Given the description of an element on the screen output the (x, y) to click on. 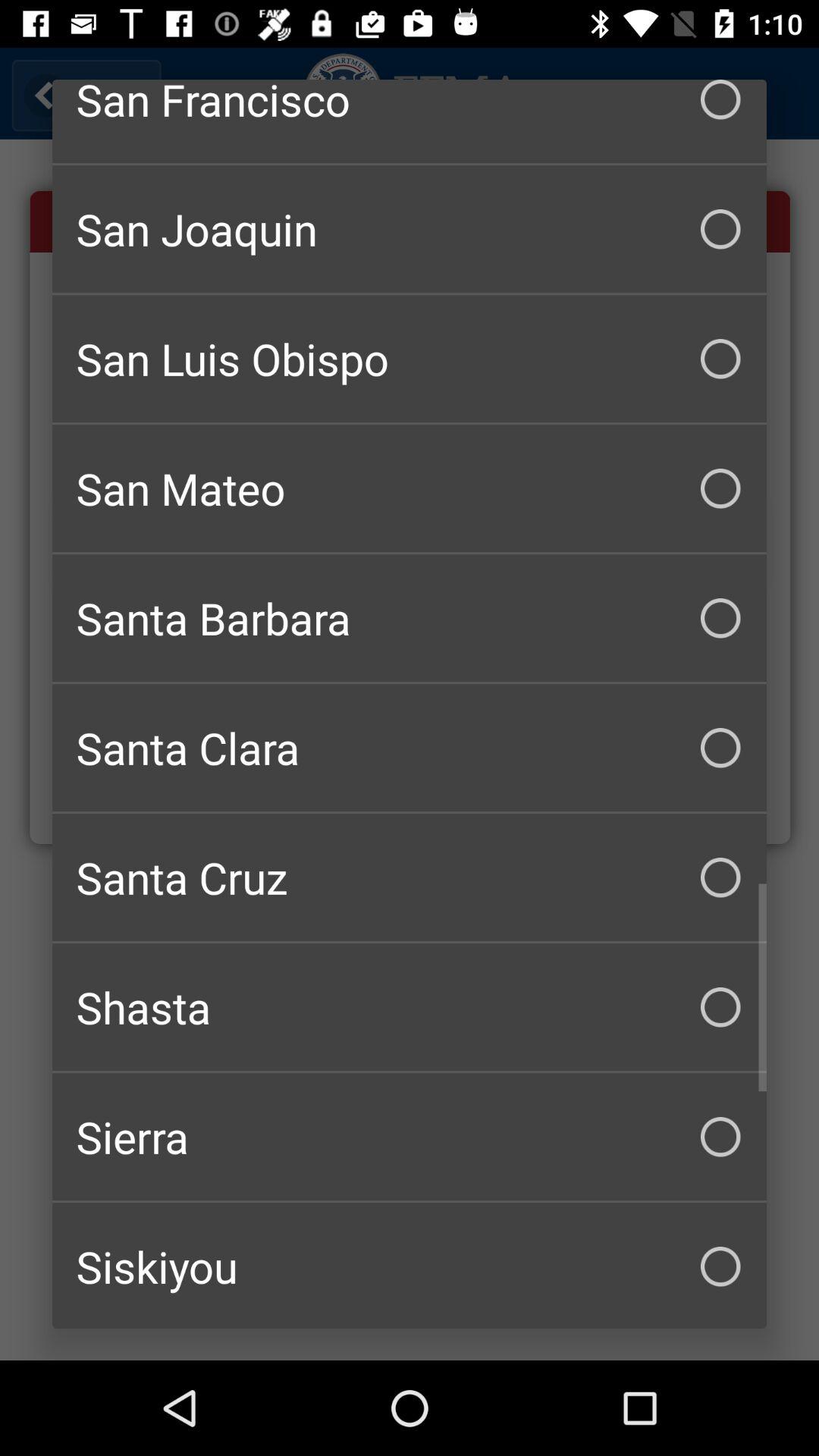
jump to the siskiyou checkbox (409, 1265)
